Given the description of an element on the screen output the (x, y) to click on. 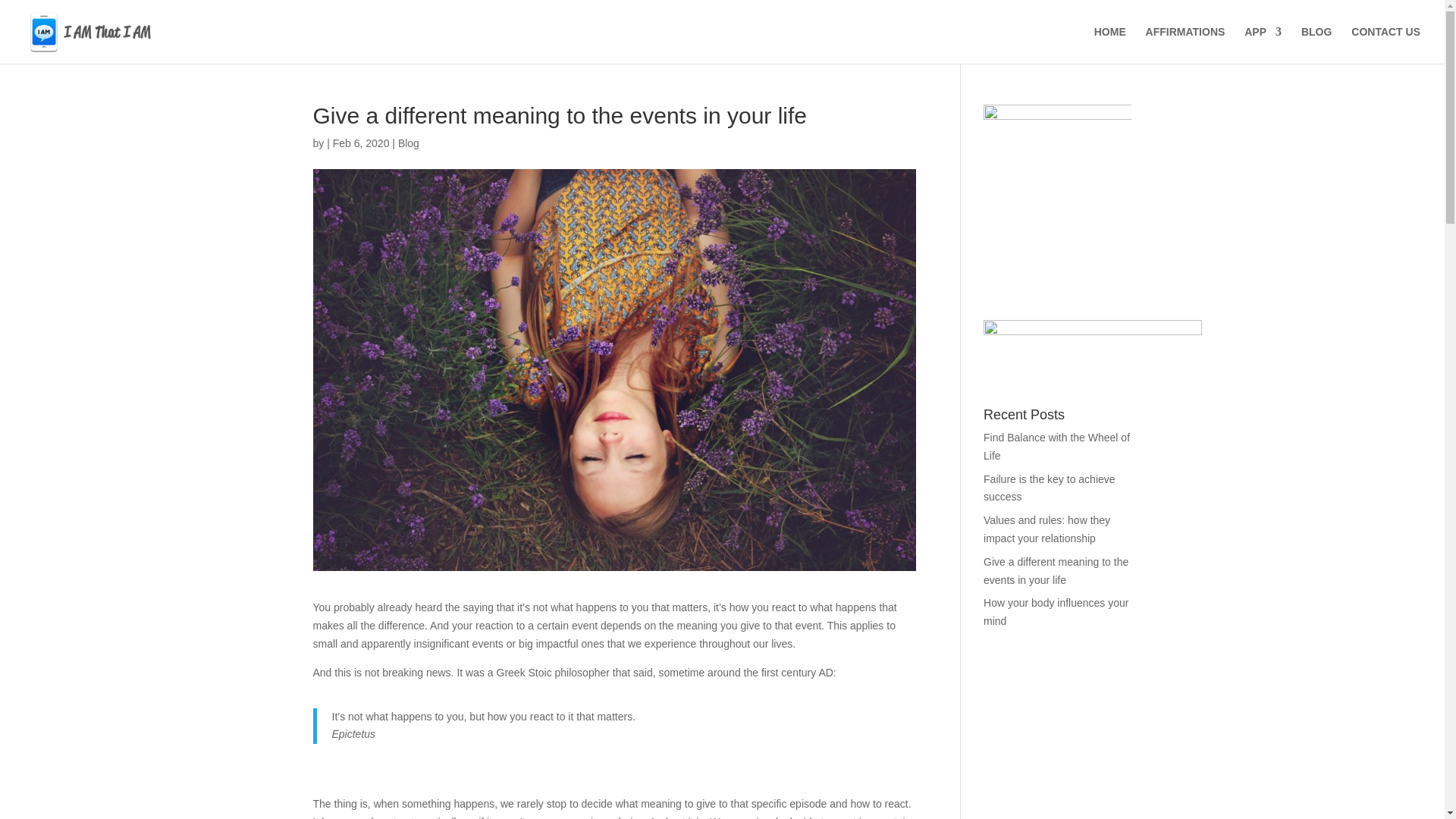
Blog (408, 143)
APP (1262, 44)
AFFIRMATIONS (1185, 44)
Find Balance with the Wheel of Life (1056, 446)
Failure is the key to achieve success (1049, 488)
CONTACT US (1386, 44)
How your body influences your mind (1056, 612)
Give a different meaning to the events in your life (1056, 571)
Values and rules: how they impact your relationship (1046, 529)
